Given the description of an element on the screen output the (x, y) to click on. 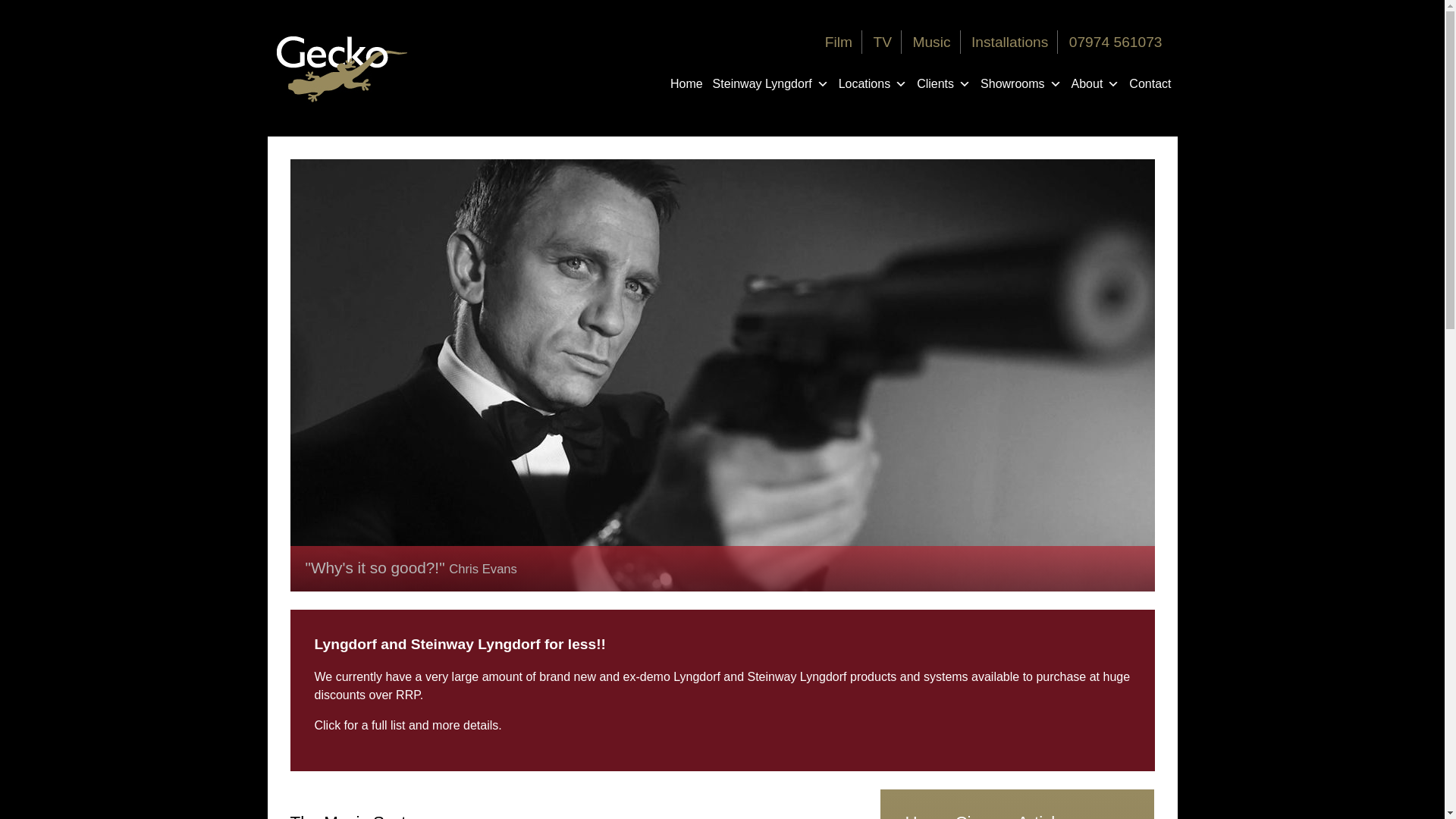
Installations (1009, 41)
Home (686, 83)
Steinway Lyngdorf (770, 83)
Film (838, 41)
Our showrooms on demonstration (1020, 83)
Locations (872, 83)
Showrooms (1020, 83)
07974 561073 (1114, 41)
Music (931, 41)
Installations (1009, 41)
Watching TV (881, 41)
About Gecko Home Cinema (1095, 83)
TV (881, 41)
About (1095, 83)
Clients (943, 83)
